Given the description of an element on the screen output the (x, y) to click on. 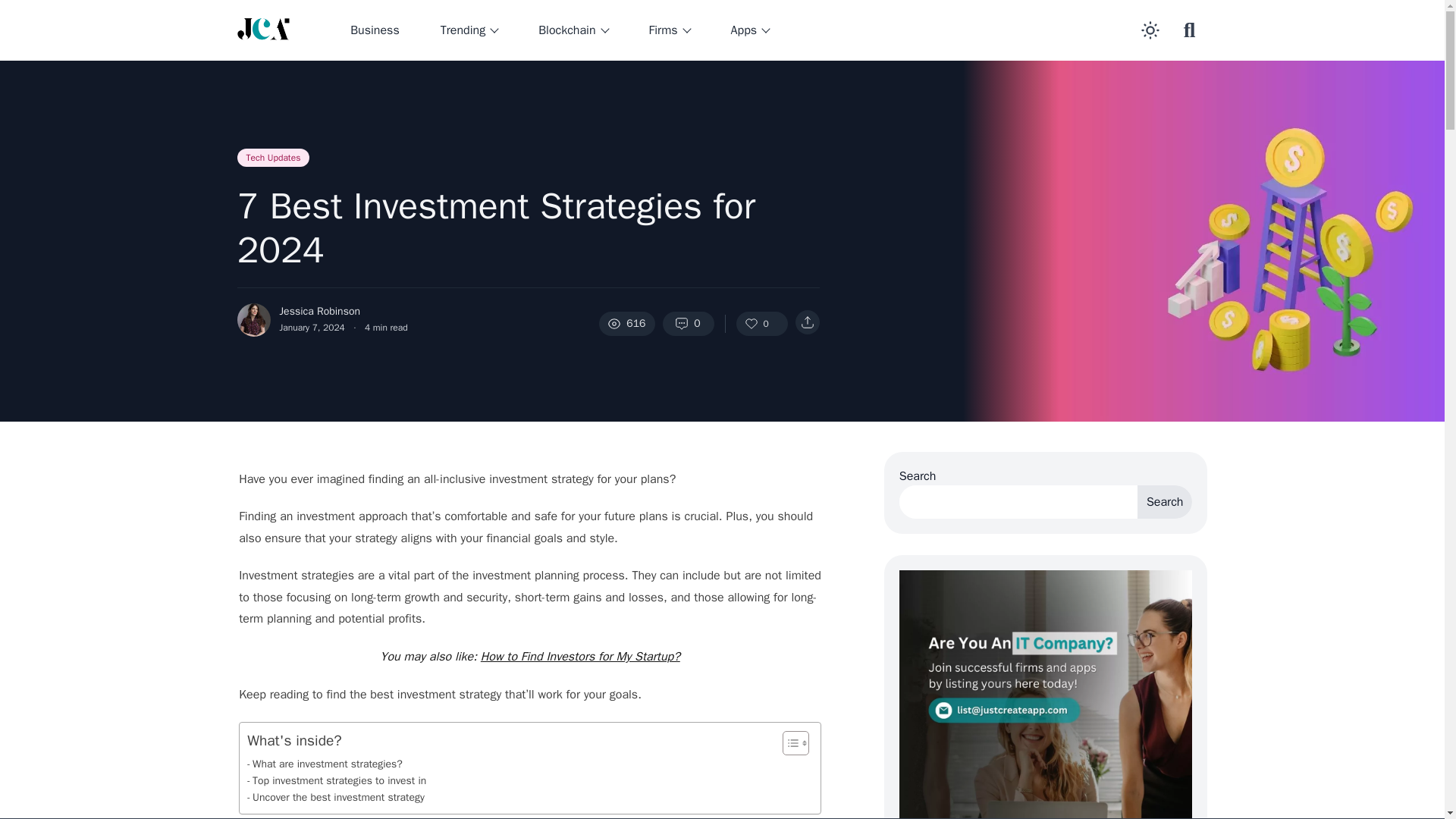
Business (374, 29)
Firms (668, 29)
Top investment strategies to invest in (336, 781)
Trending (468, 29)
Blockchain (572, 29)
Views (625, 323)
Share with (806, 322)
Comments (688, 323)
